Given the description of an element on the screen output the (x, y) to click on. 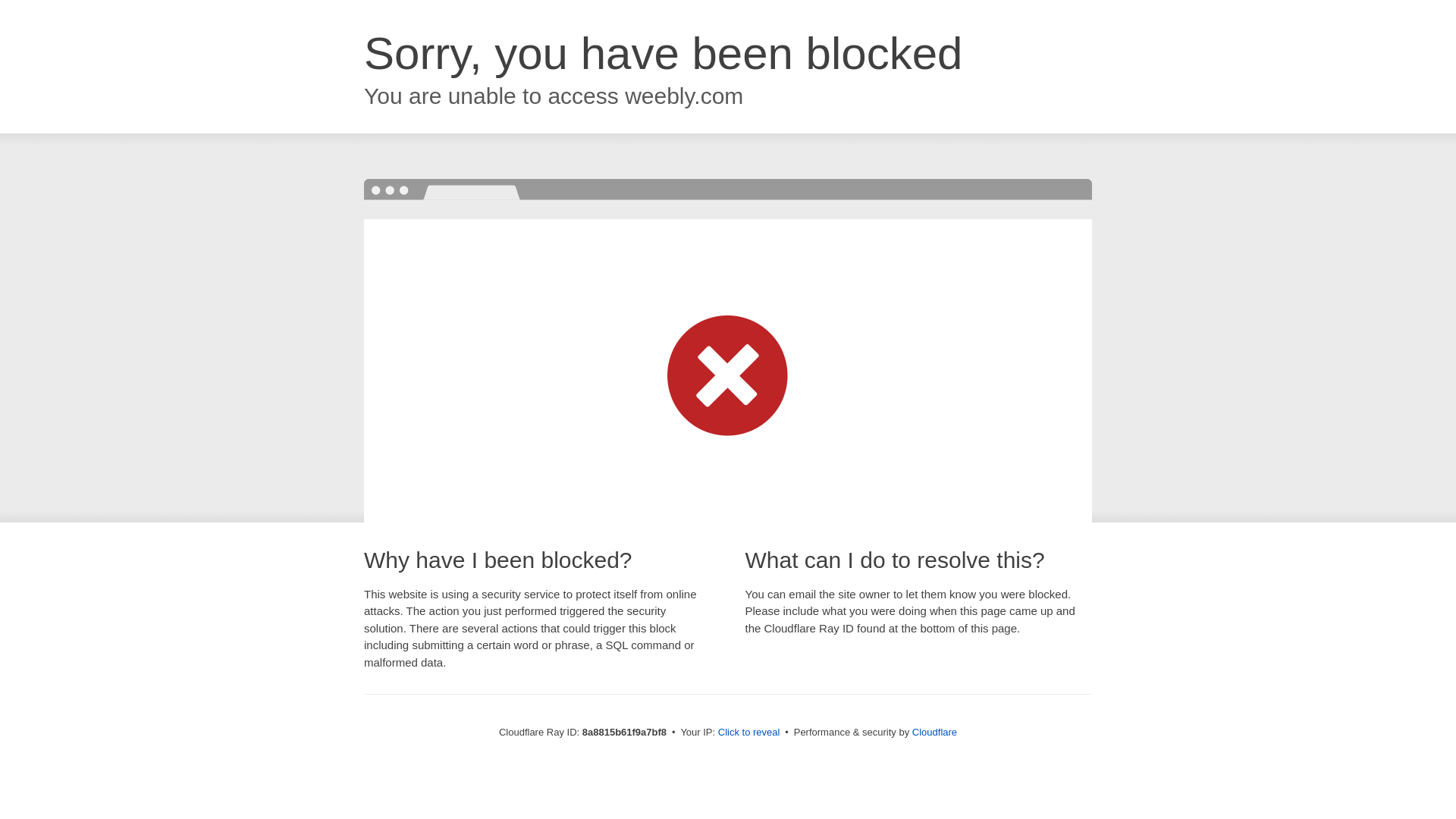
Cloudflare (934, 731)
Click to reveal (748, 732)
